Given the description of an element on the screen output the (x, y) to click on. 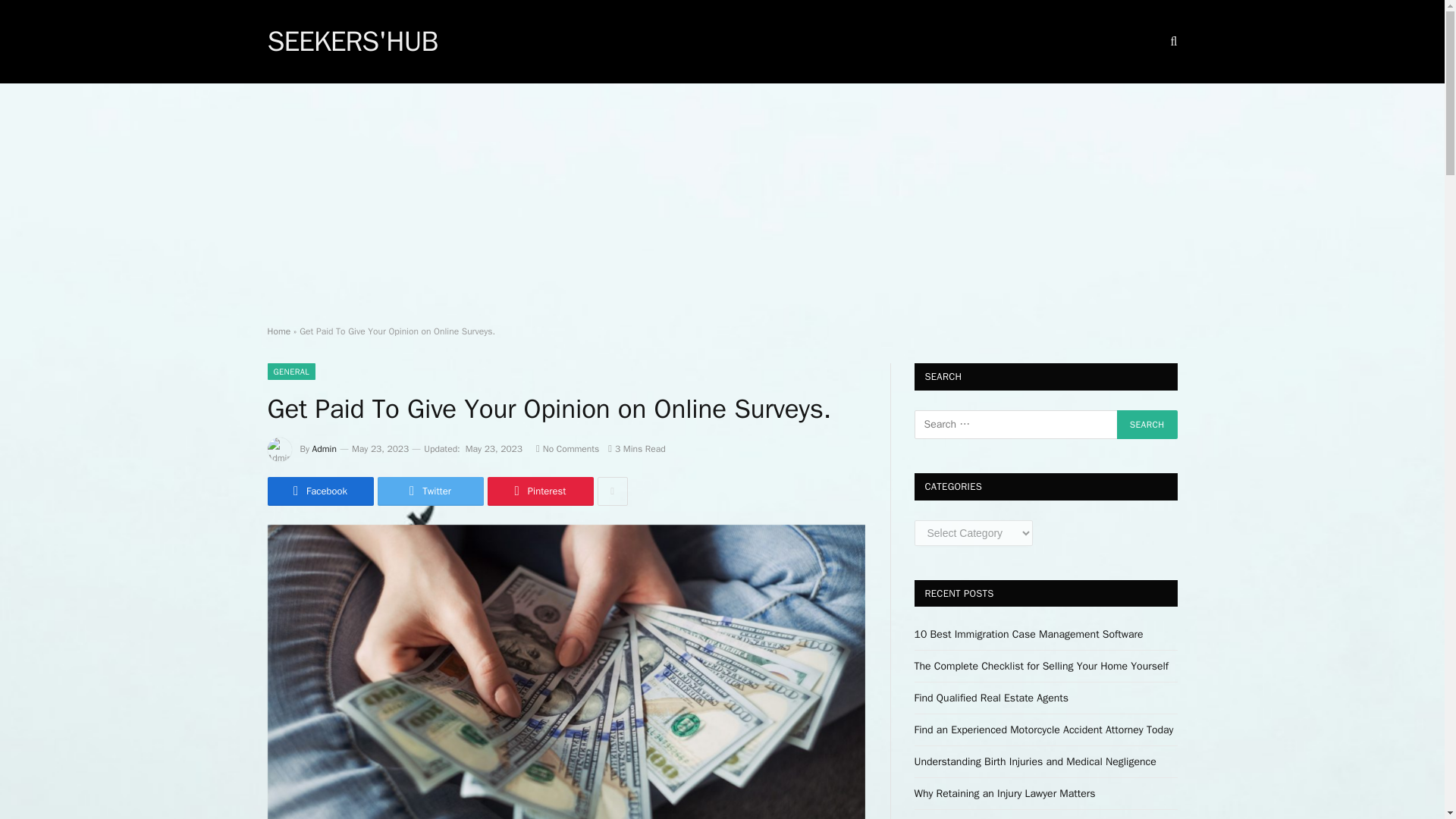
Home (277, 331)
Search (1146, 424)
Facebook (319, 491)
Search (1146, 424)
SEEKERS'HUB (352, 41)
Admin (324, 449)
Share on Pinterest (539, 491)
Share on Facebook (319, 491)
Pinterest (539, 491)
